Given the description of an element on the screen output the (x, y) to click on. 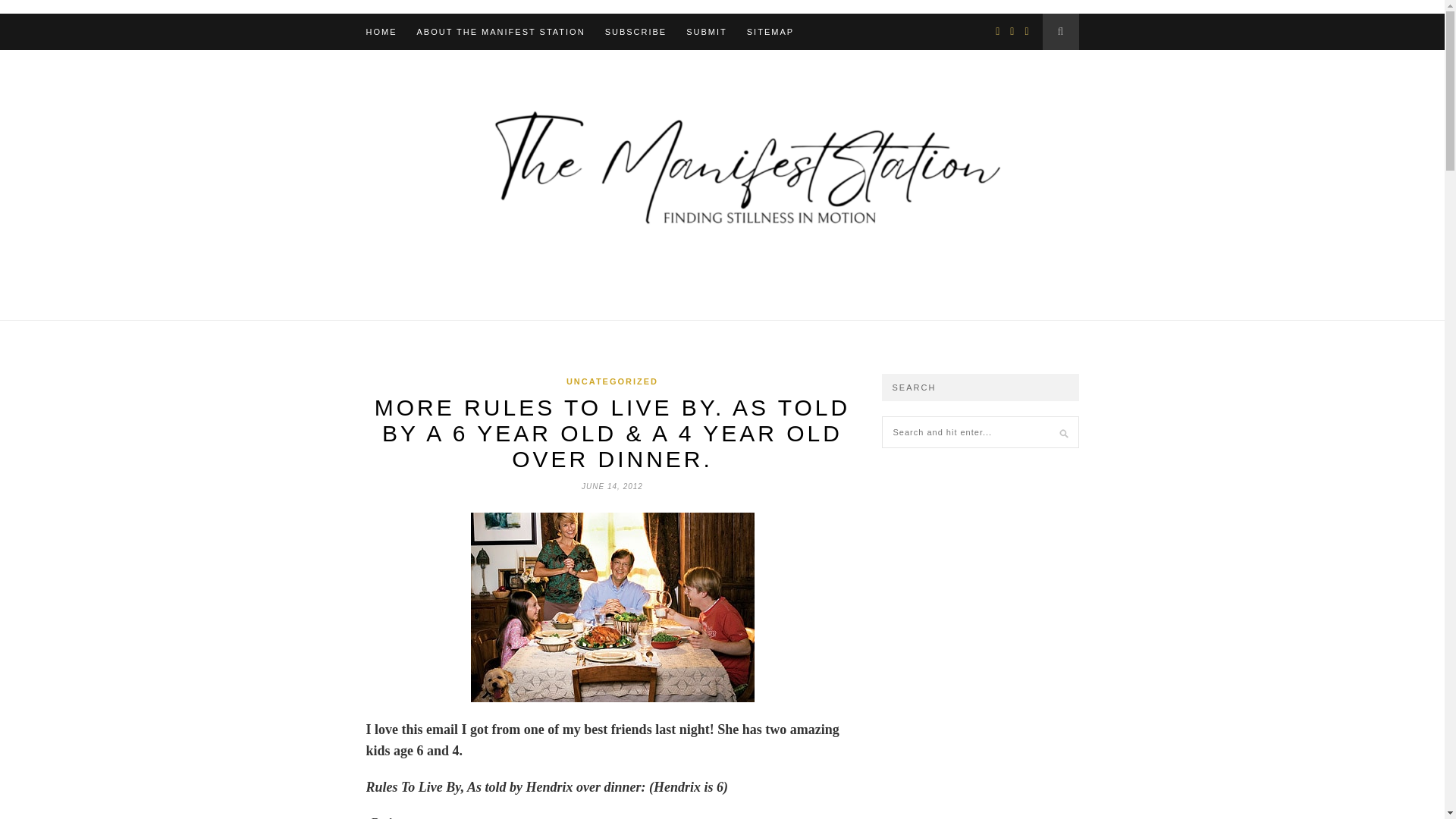
SUBSCRIBE (635, 31)
UNCATEGORIZED (612, 380)
ABOUT THE MANIFEST STATION (500, 31)
View all posts in Uncategorized (612, 380)
SITEMAP (769, 31)
SUBMIT (705, 31)
